Given the description of an element on the screen output the (x, y) to click on. 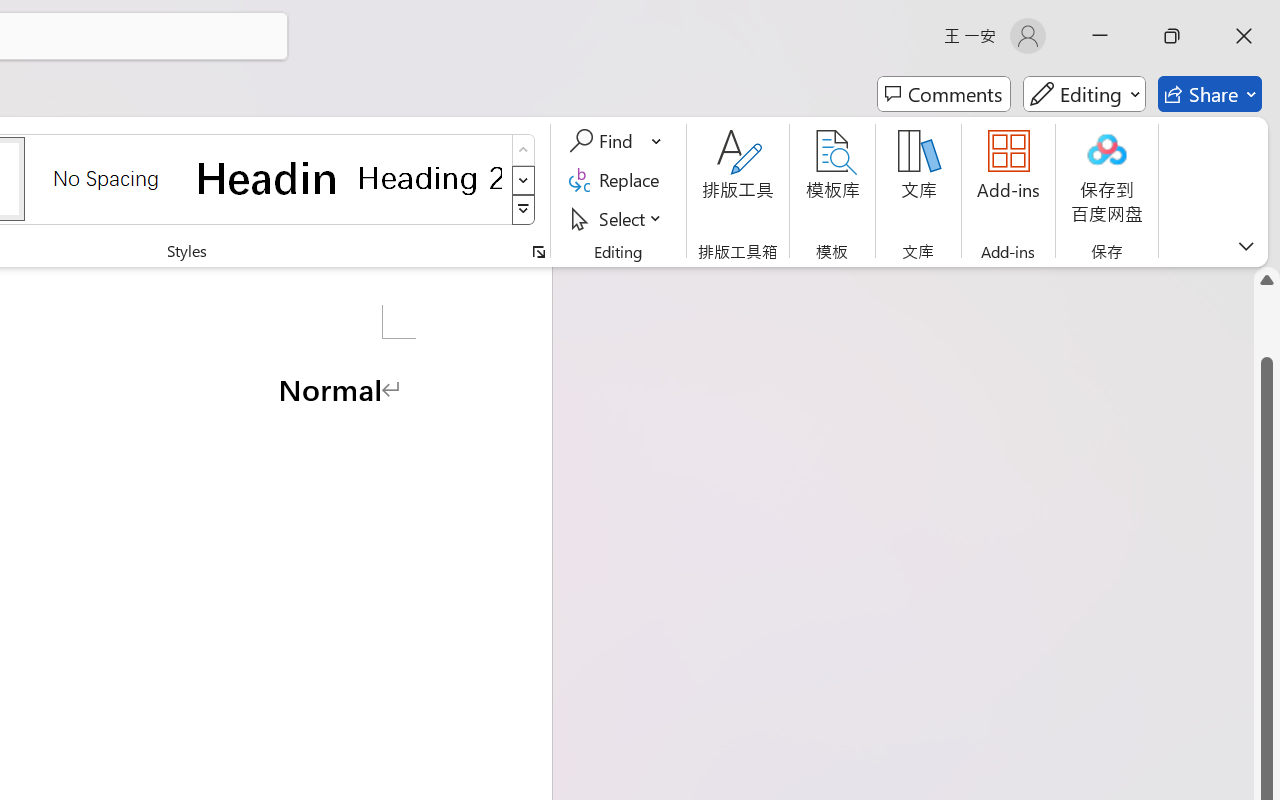
Select (618, 218)
Styles (523, 209)
Page up (1267, 324)
Line up (1267, 279)
Heading 2 (429, 178)
Row Down (523, 180)
